Given the description of an element on the screen output the (x, y) to click on. 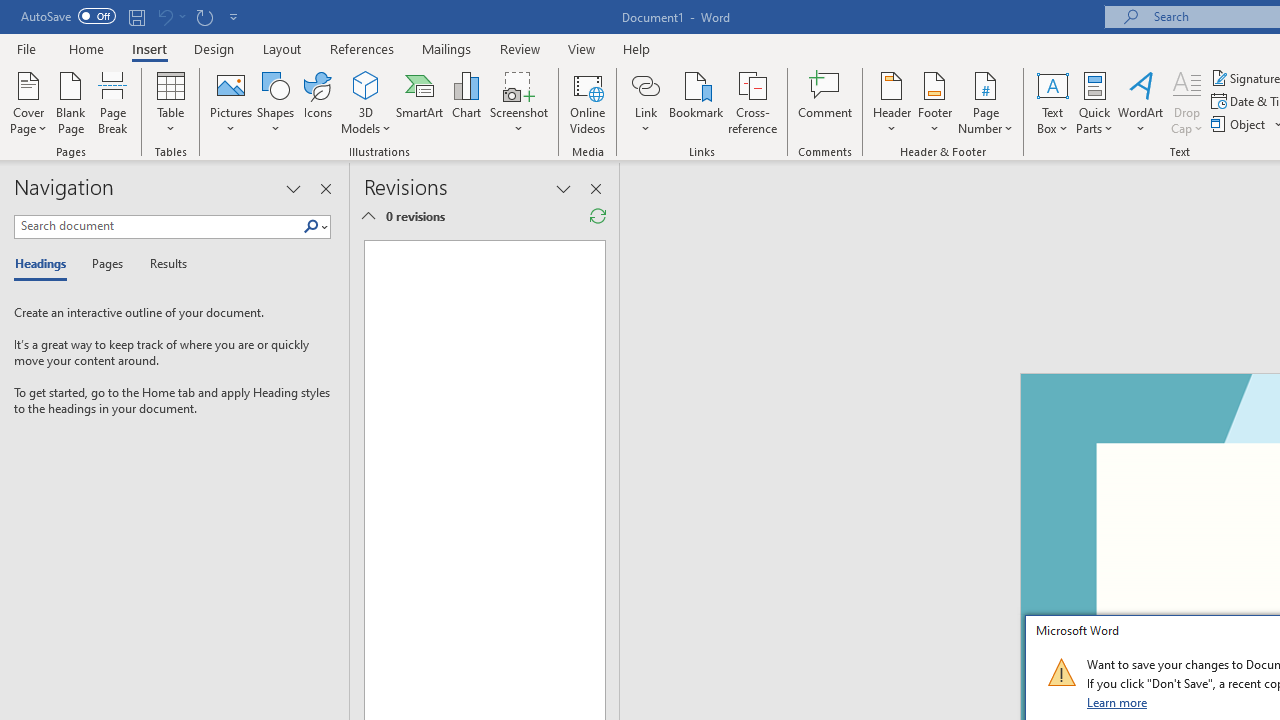
Table (170, 102)
Learn more (1118, 702)
Text Box (1052, 102)
Drop Cap (1187, 102)
Refresh Reviewing Pane (597, 215)
Online Videos... (588, 102)
Show Detailed Summary (368, 215)
Cover Page (28, 102)
